Given the description of an element on the screen output the (x, y) to click on. 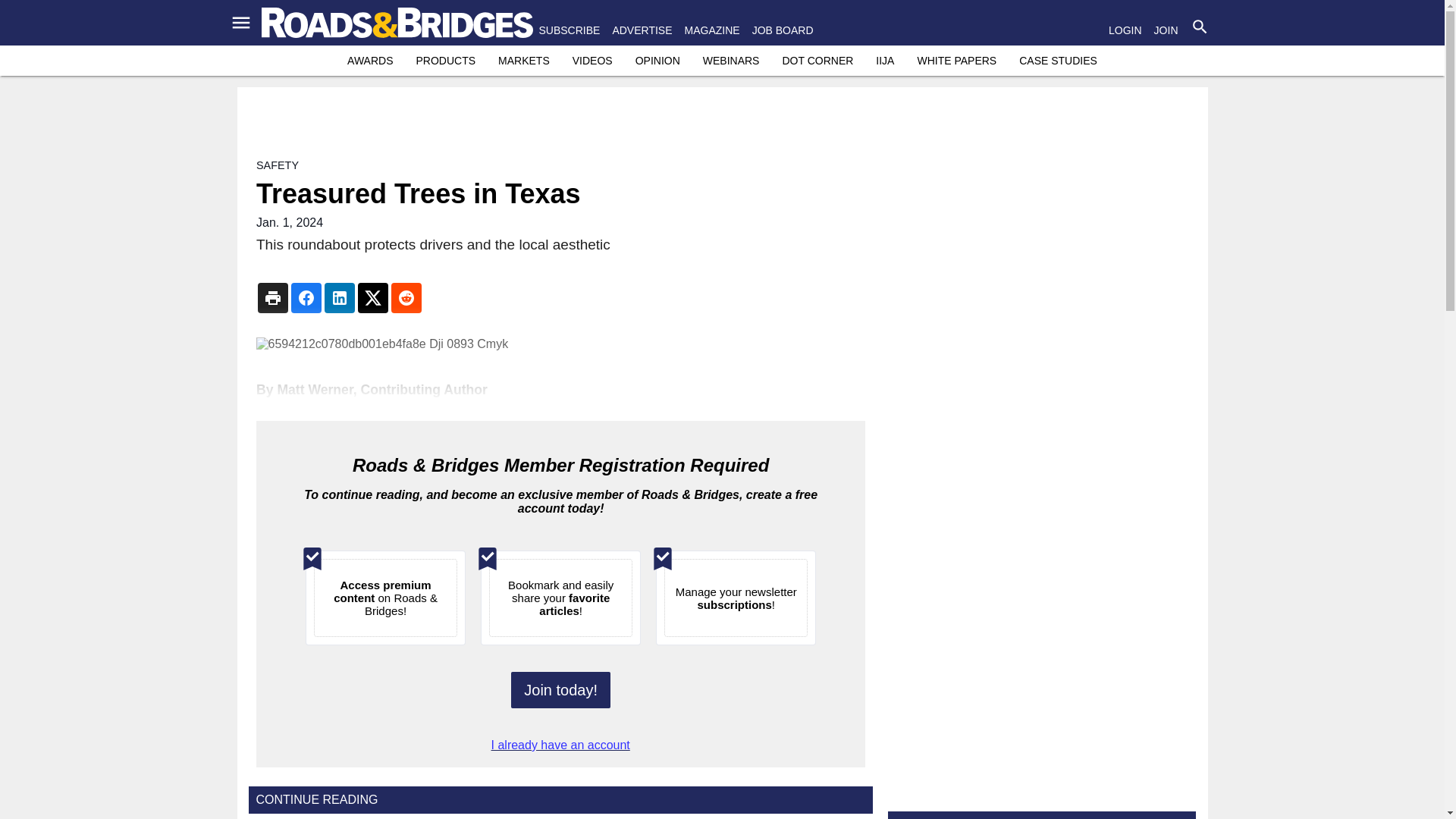
JOIN (1165, 30)
ADVERTISE (641, 30)
JOB BOARD (782, 30)
SUBSCRIBE (568, 30)
WEBINARS (731, 60)
IIJA (884, 60)
MAGAZINE (711, 30)
PRODUCTS (445, 60)
LOGIN (1124, 30)
AWARDS (370, 60)
